Given the description of an element on the screen output the (x, y) to click on. 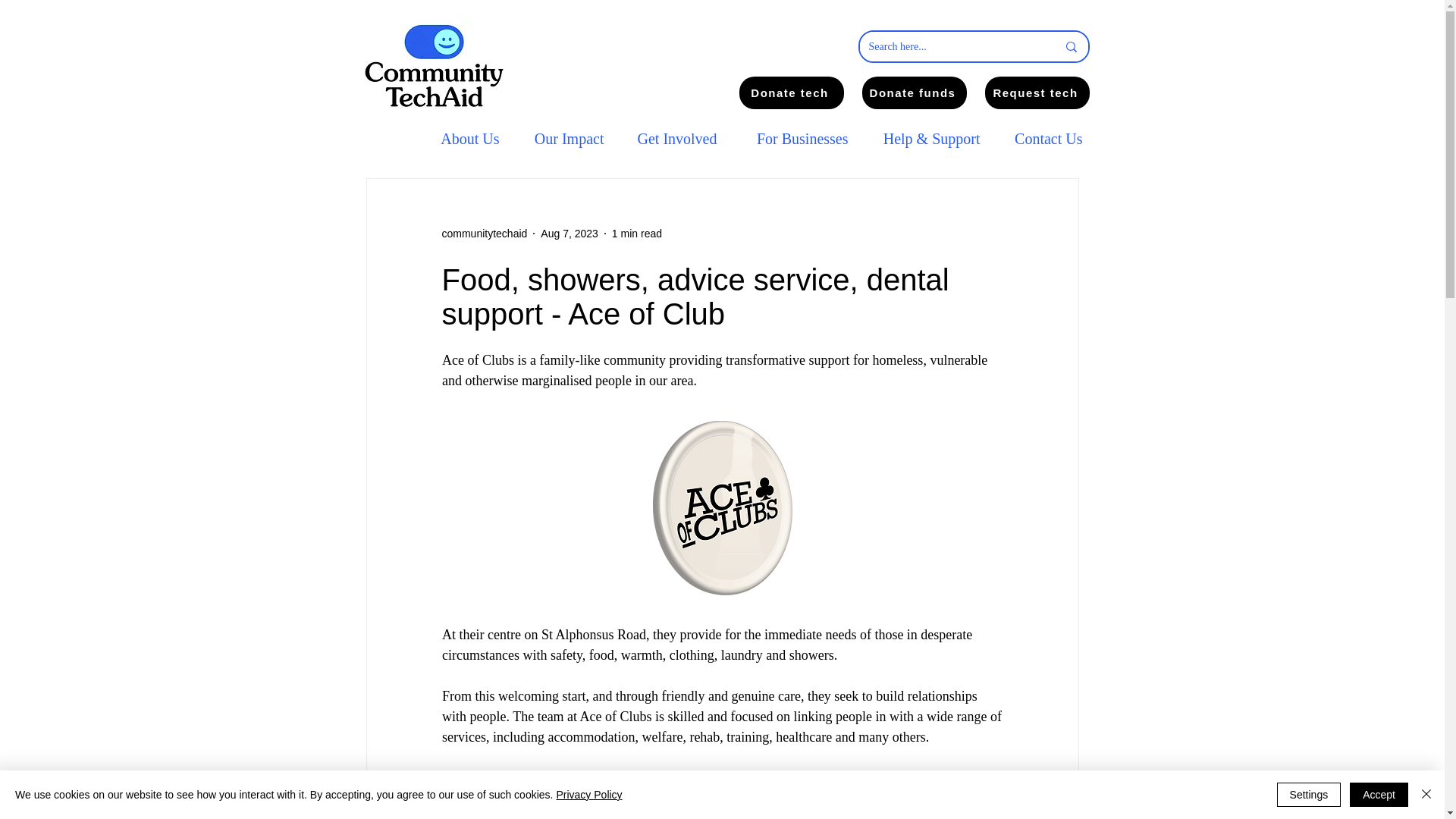
Donate funds (913, 92)
Get Involved (672, 138)
Request tech (1036, 92)
About Us (466, 138)
1 min read (636, 233)
communitytechaid (484, 233)
For Businesses (793, 138)
Our Impact (563, 138)
Contact Us (1042, 138)
Donate tech (790, 92)
